Given the description of an element on the screen output the (x, y) to click on. 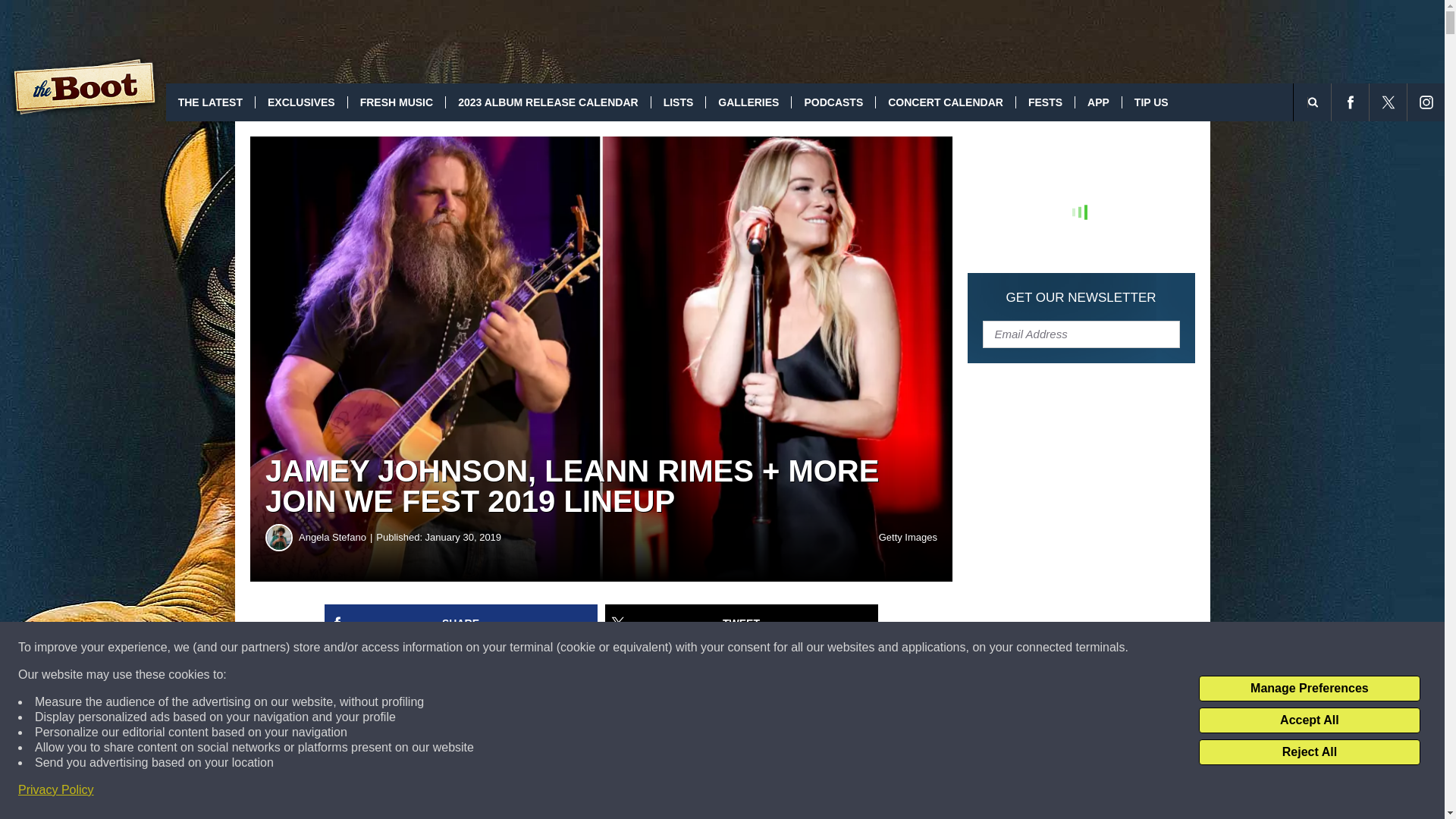
Jimmie Allen (769, 777)
Manage Preferences (1309, 688)
EXCLUSIVES (300, 102)
Kelleigh Bannen (590, 801)
Email Address (1080, 333)
APP (1097, 102)
Adam Doleac (474, 801)
Visit us on Facebook (1350, 102)
LISTS (678, 102)
Lanco (614, 777)
Accept All (1309, 720)
WE Fest (433, 691)
Angela Stefano (336, 537)
FESTS (1044, 102)
SHARE (460, 623)
